Given the description of an element on the screen output the (x, y) to click on. 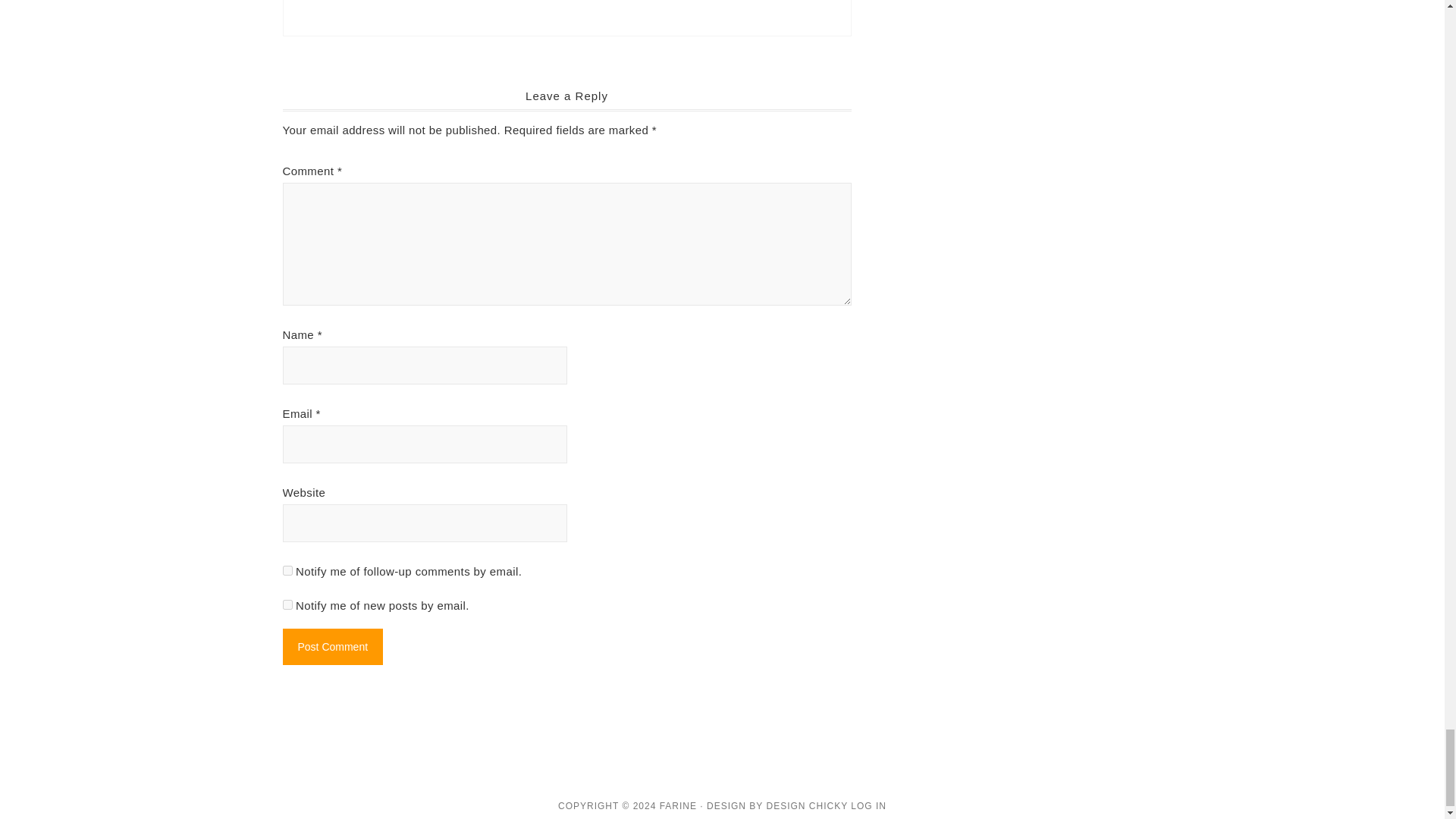
subscribe (287, 604)
subscribe (287, 570)
Post Comment (332, 646)
